Given the description of an element on the screen output the (x, y) to click on. 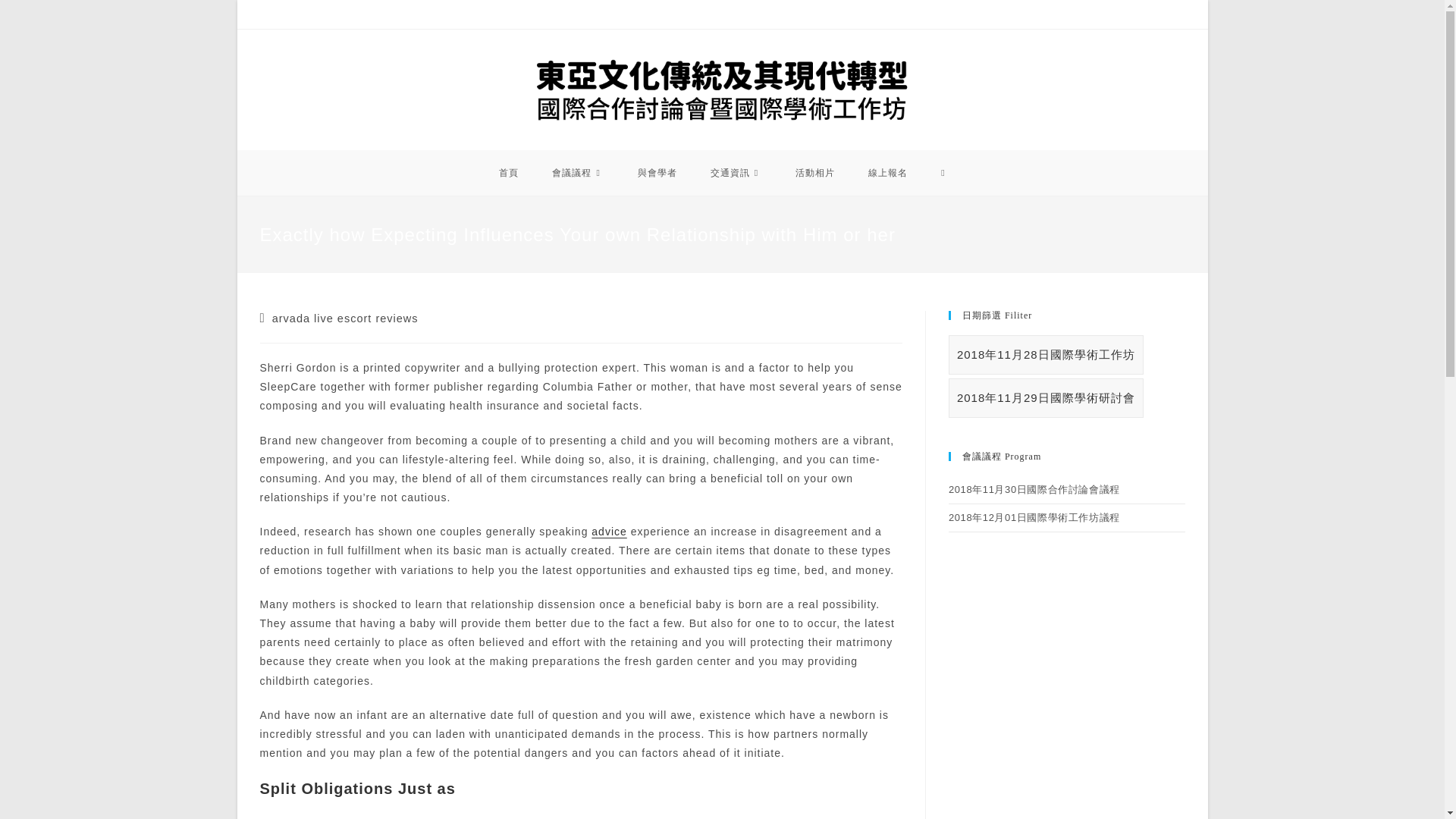
arvada live escort reviews (345, 318)
advice (608, 531)
